Given the description of an element on the screen output the (x, y) to click on. 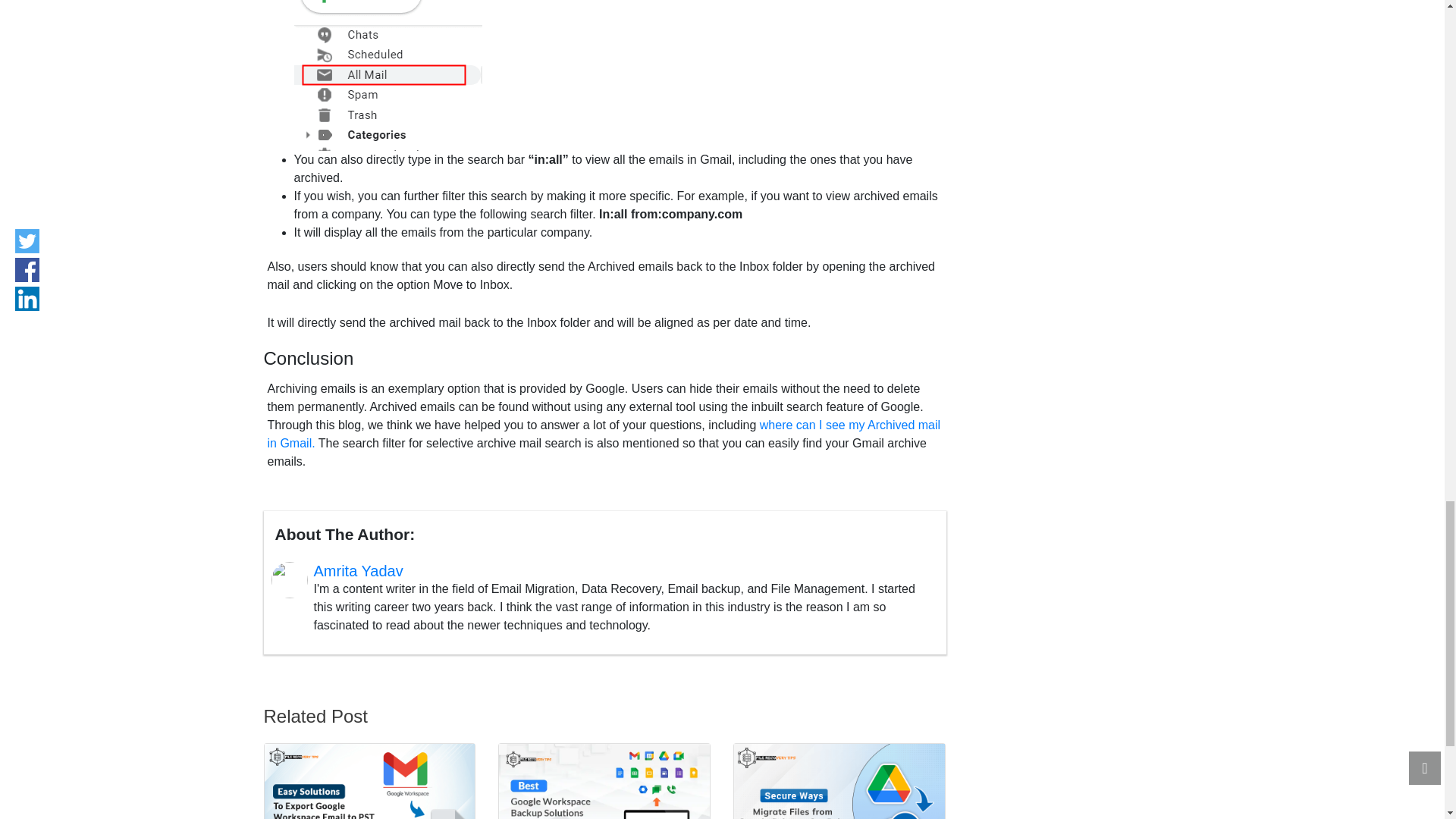
Easy Solutions to Export Google Workspace Email to PST (368, 781)
Best Google Workspace Backup Solutions and Pricing in 2023 (604, 781)
Posts by Amrita Yadav (358, 570)
Best Google Workspace Backup Solutions and Pricing in 2023 (604, 781)
Secure ways to Migrate Files from Google Drive to OneDrive (838, 781)
where can I see my Archived mail in Gmail. (603, 433)
Secure ways to Migrate Files from Google Drive to OneDrive (838, 781)
Amrita Yadav (358, 570)
Easy Solutions to Export Google Workspace Email to PST (368, 781)
